Given the description of an element on the screen output the (x, y) to click on. 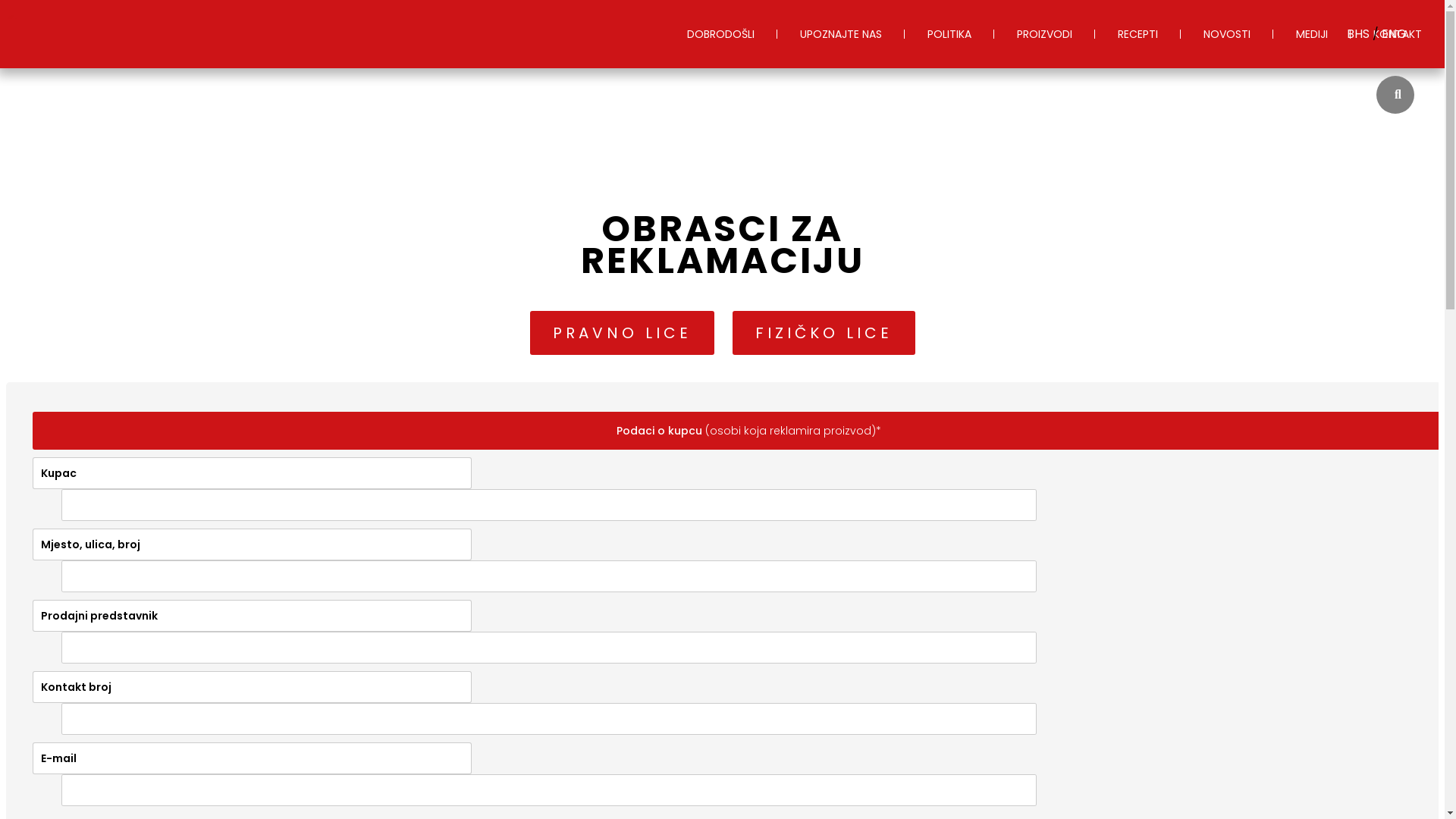
BHS Element type: text (1359, 33)
ENG Element type: text (1393, 33)
NOVOSTI Element type: text (1226, 33)
PROIZVODI Element type: text (1044, 33)
UPOZNAJTE NAS Element type: text (840, 33)
RECEPTI Element type: text (1137, 33)
MEDIJI Element type: text (1311, 33)
POLITIKA Element type: text (949, 33)
PRAVNO LICE Element type: text (621, 332)
KONTAKT Element type: text (1397, 33)
